Given the description of an element on the screen output the (x, y) to click on. 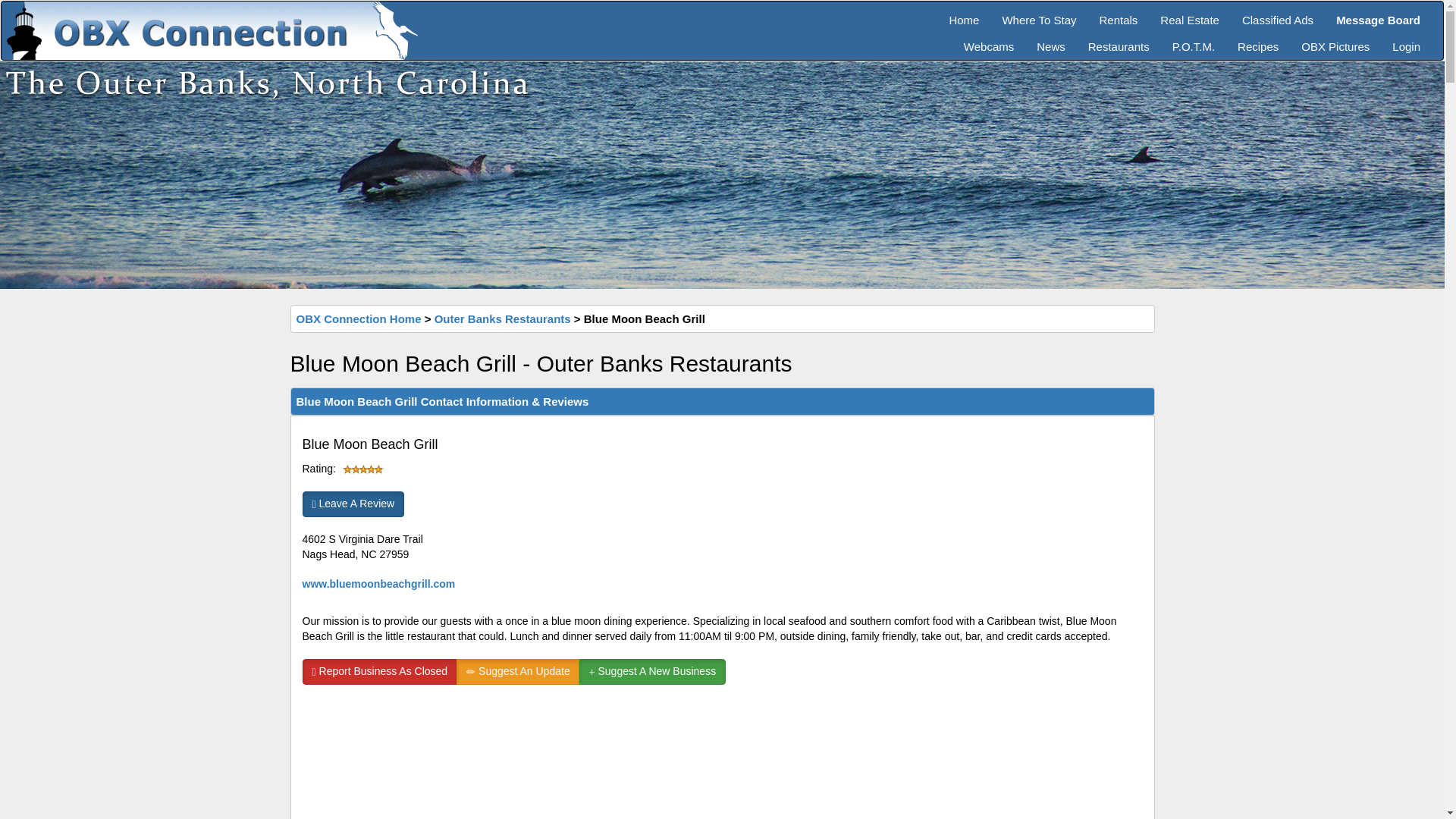
Leave A Review (352, 503)
www.bluemoonbeachgrill.com (377, 583)
OBX Connection Home (357, 318)
Restaurants (1118, 40)
News (1051, 40)
Outer Banks Restaurants (501, 318)
Real Estate (1189, 14)
Home (963, 14)
Message Board (1377, 14)
Webcams (988, 40)
Classified Ads (1277, 14)
P.O.T.M. (1192, 40)
Rentals (1117, 14)
Suggest A New Business (652, 671)
Recipes (1257, 40)
